Given the description of an element on the screen output the (x, y) to click on. 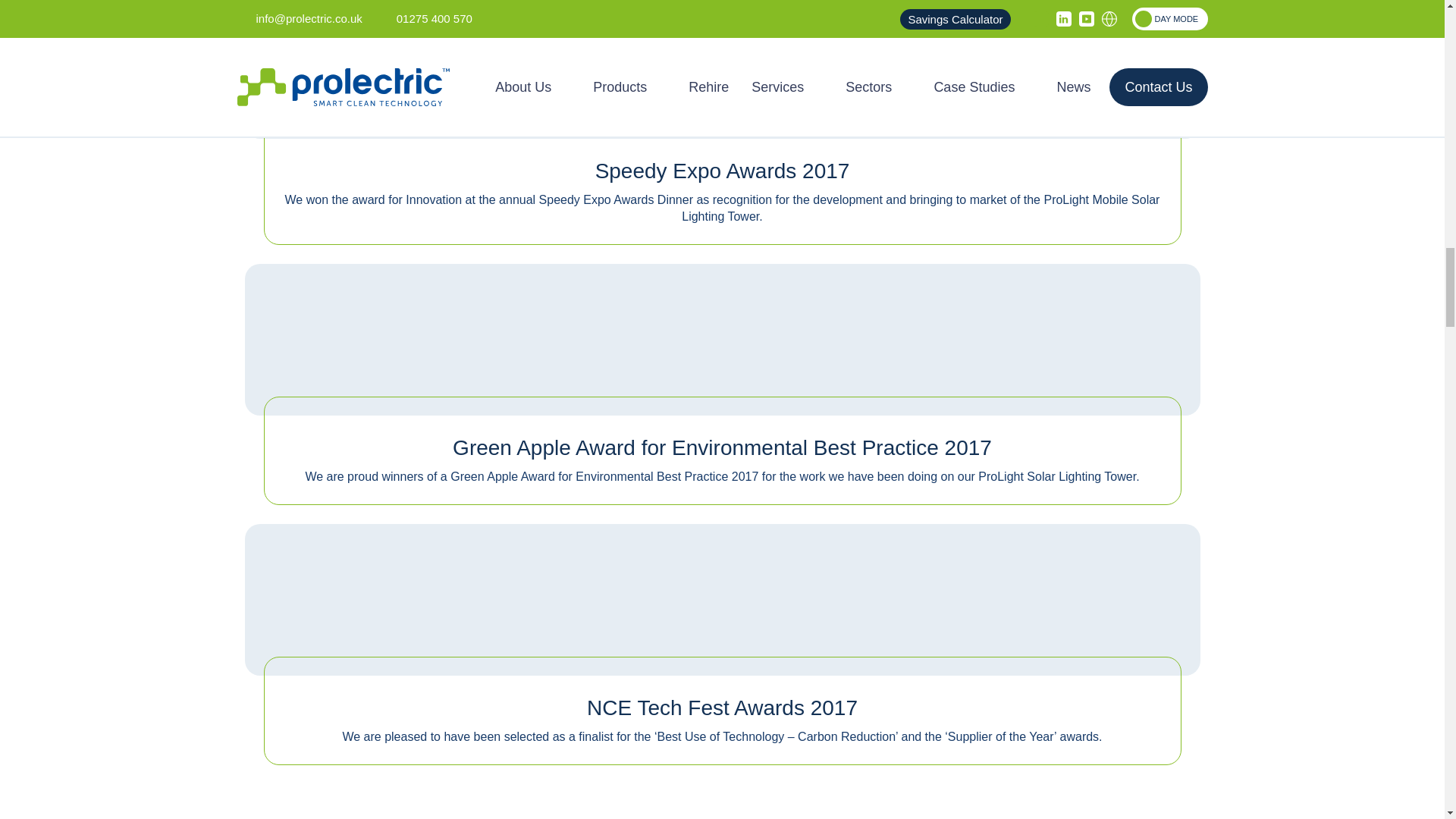
Speedy Expo Awards 2017 (721, 53)
Green Apple Award for Environmental Best Practice 2017 (721, 329)
NCE Tech Fest Awards 2017 (721, 589)
